Given the description of an element on the screen output the (x, y) to click on. 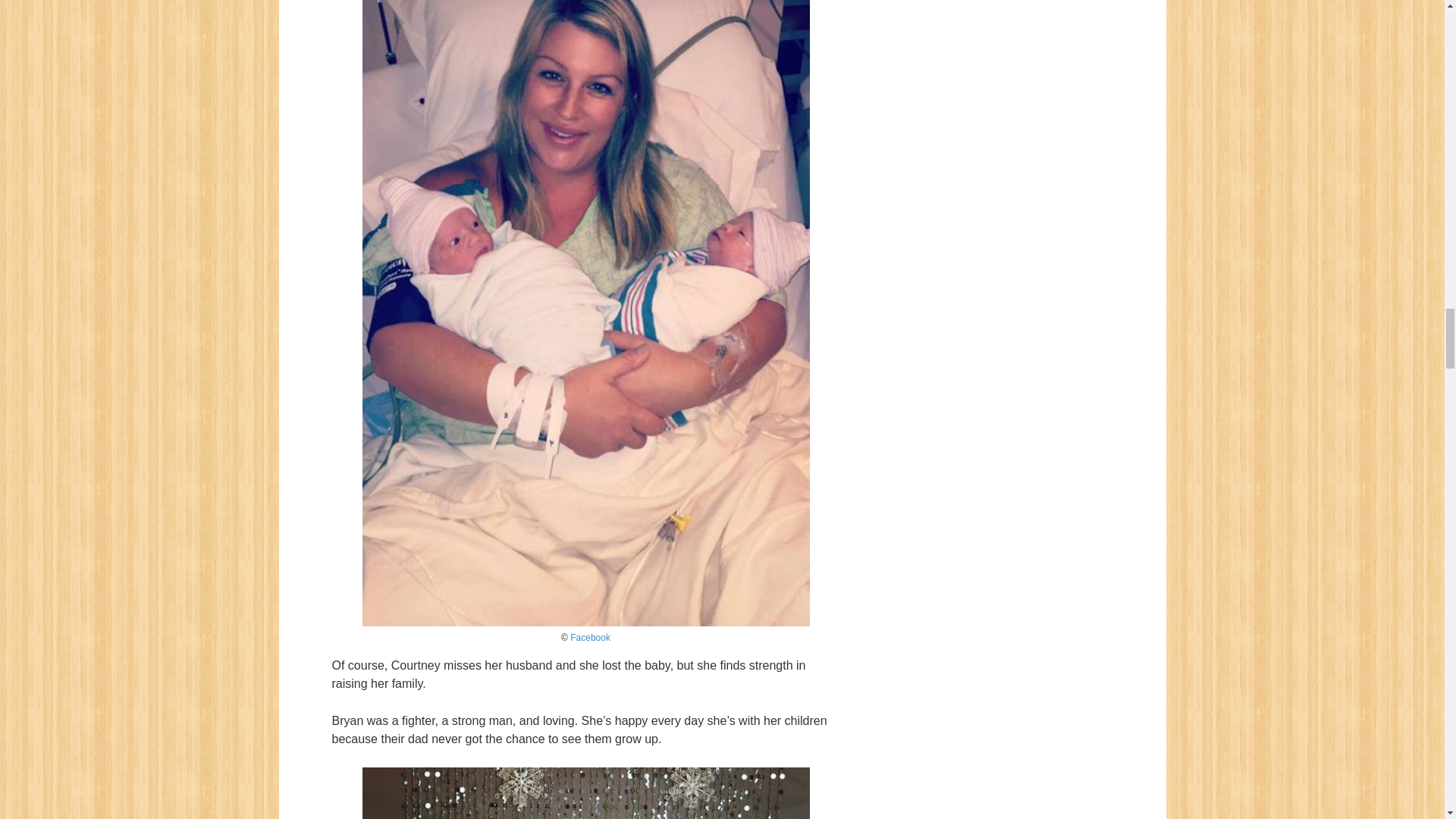
Facebook (590, 637)
